Given the description of an element on the screen output the (x, y) to click on. 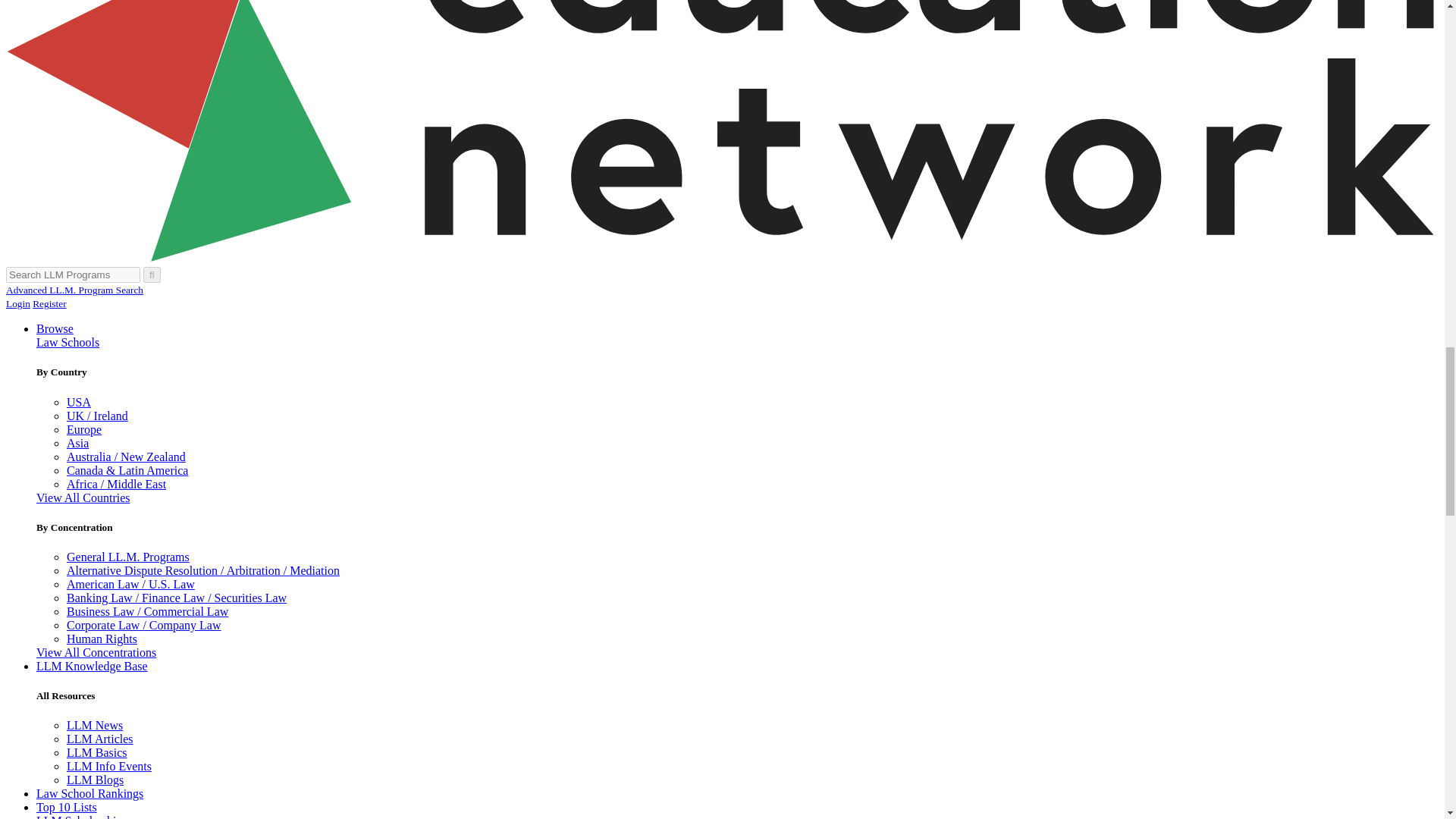
Human Rights (101, 638)
Login (67, 335)
Asia (17, 303)
View All Countries (77, 442)
Register (82, 497)
General LL.M. Programs (48, 303)
USA (127, 556)
Europe (78, 401)
Advanced LL.M. Program Search (83, 429)
